Given the description of an element on the screen output the (x, y) to click on. 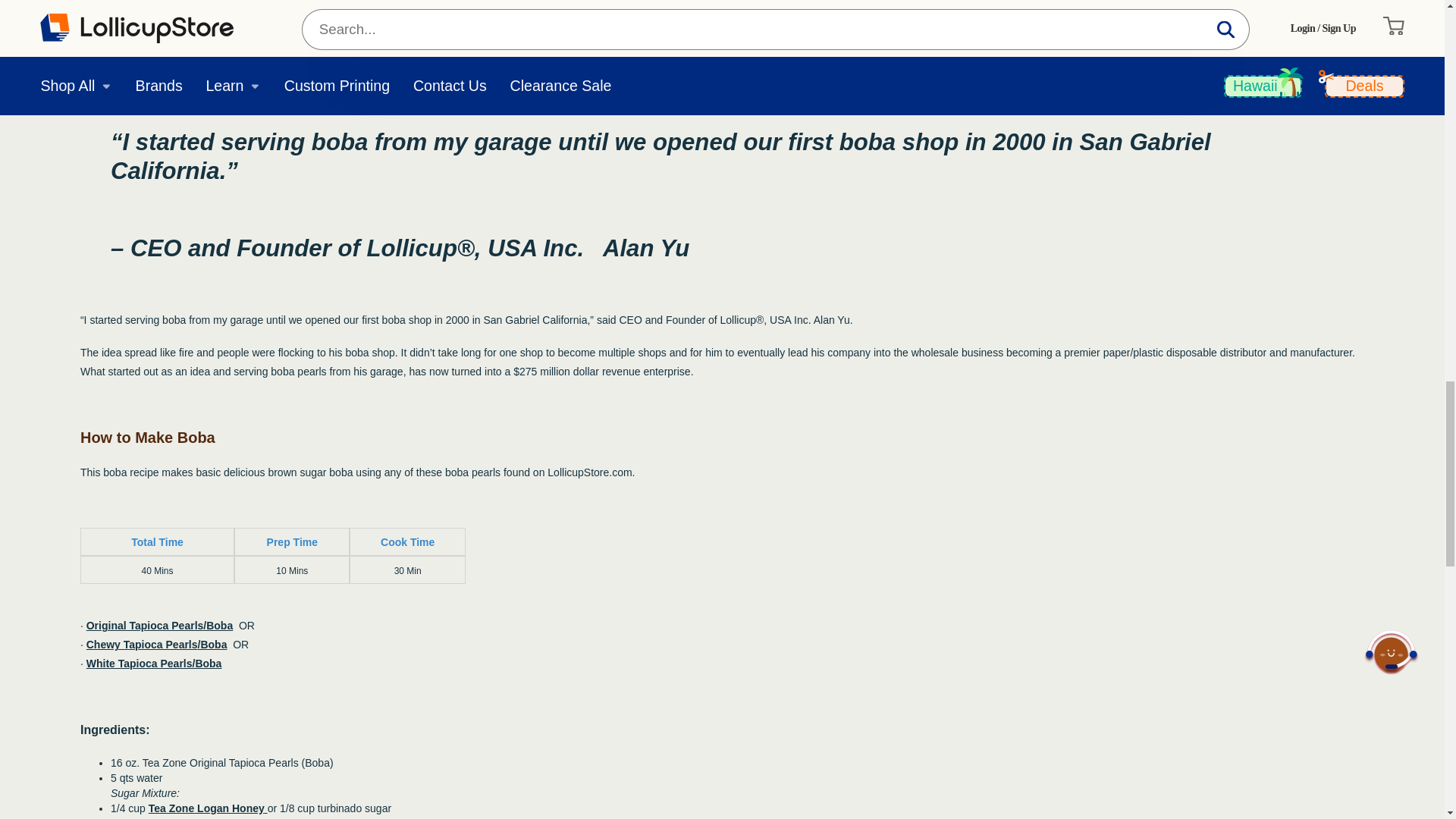
Original Tapioca Pearls (144, 625)
Tea Zone Longan Honey (207, 808)
Chewy Tapioca Pearls (141, 644)
White Tapioca Pearls (153, 663)
